Given the description of an element on the screen output the (x, y) to click on. 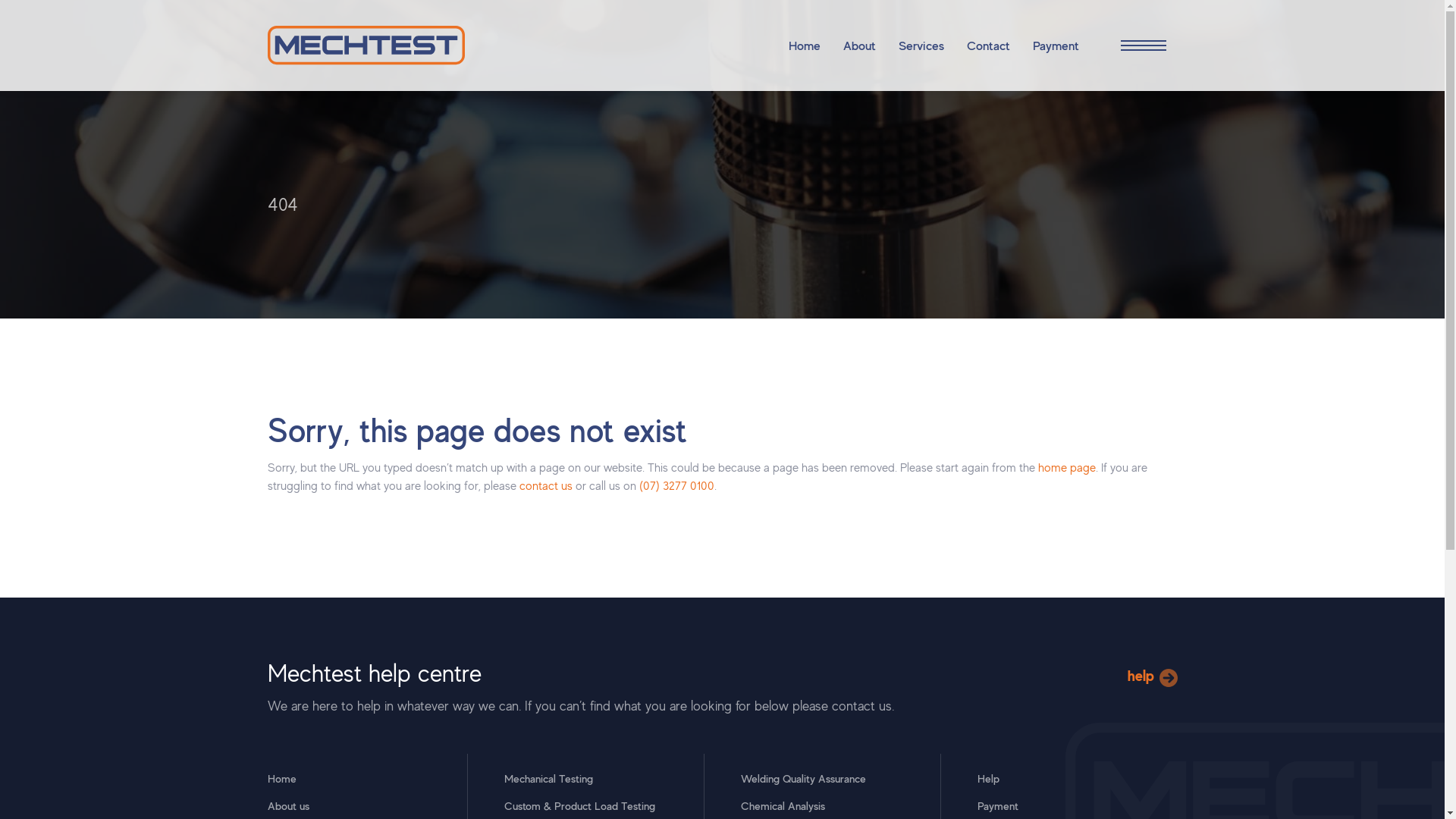
Contact Element type: text (987, 45)
Home Element type: text (804, 45)
Mechanical Testing Element type: text (547, 778)
(07) 3277 0100 Element type: text (675, 484)
contact us Element type: text (544, 484)
Chemical Analysis Element type: text (782, 805)
About Element type: text (859, 45)
Open Site Navigation Element type: hover (1138, 45)
Home Element type: text (280, 778)
Payment Element type: text (1055, 45)
Services Element type: text (920, 45)
Help Element type: text (987, 778)
About us Element type: text (287, 805)
home page Element type: text (1066, 466)
Payment Element type: text (996, 805)
help Element type: text (1151, 676)
Welding Quality Assurance Element type: text (802, 778)
Custom & Product Load Testing Element type: text (578, 805)
